Given the description of an element on the screen output the (x, y) to click on. 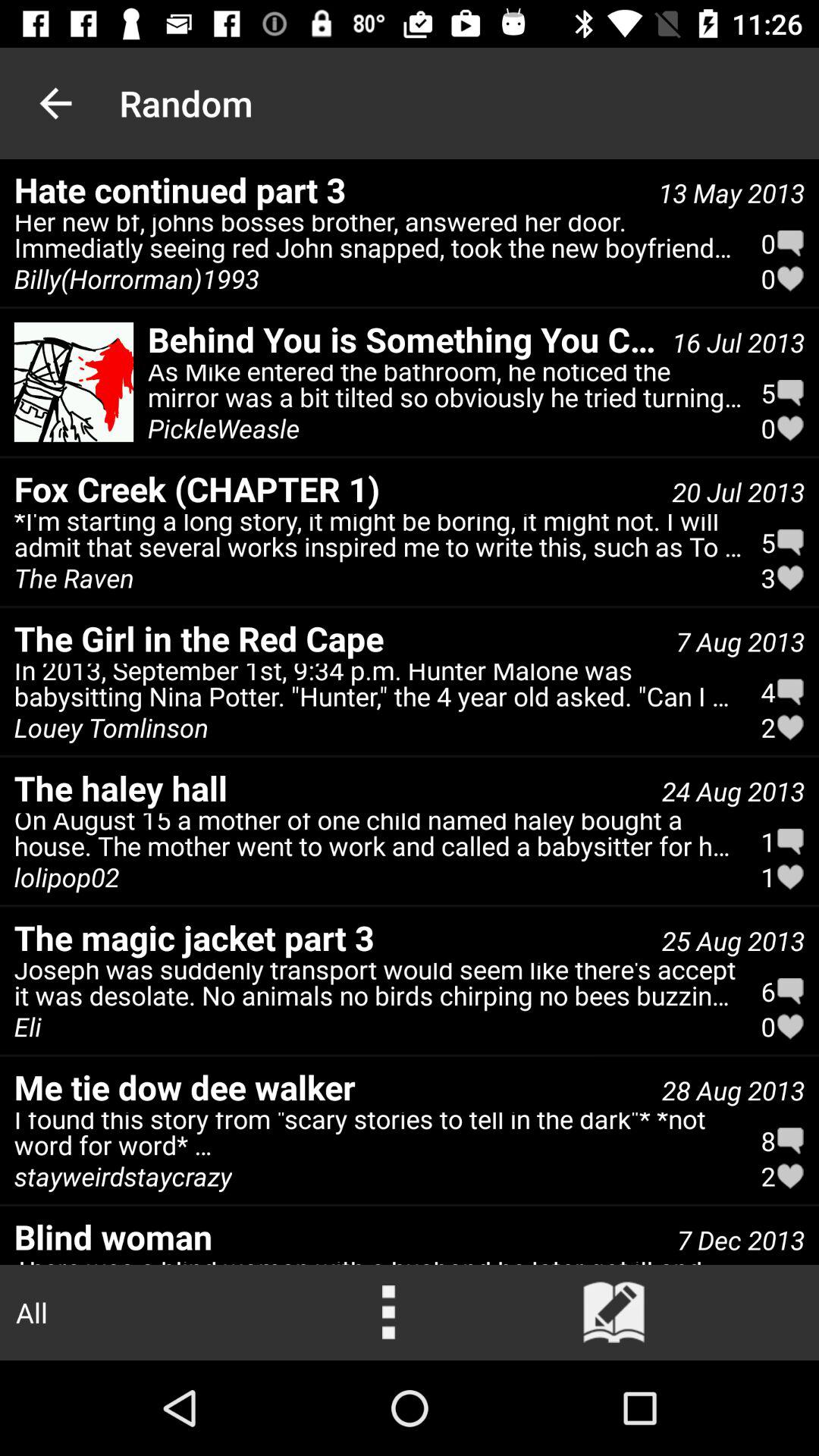
select the icon to the left of 20 jul 2013 (336, 488)
